Given the description of an element on the screen output the (x, y) to click on. 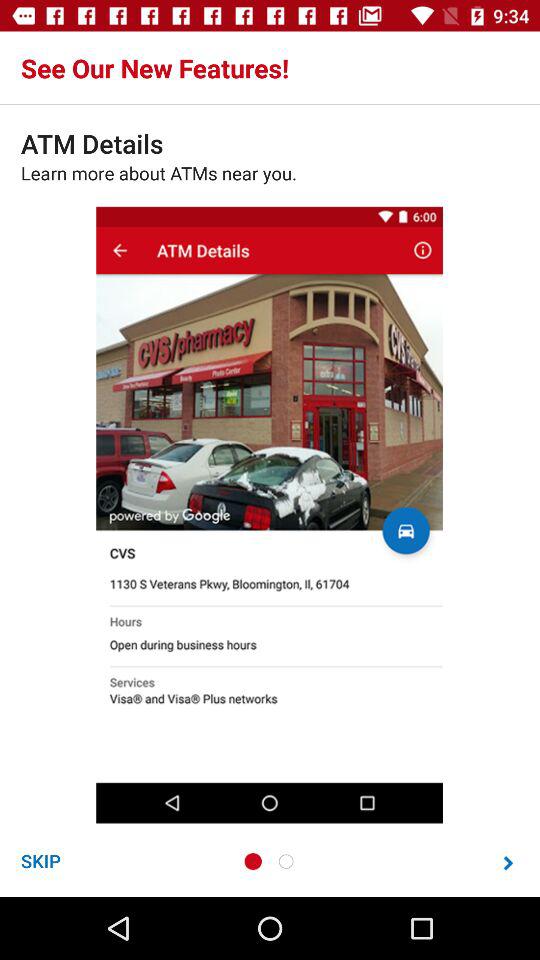
next (508, 862)
